Given the description of an element on the screen output the (x, y) to click on. 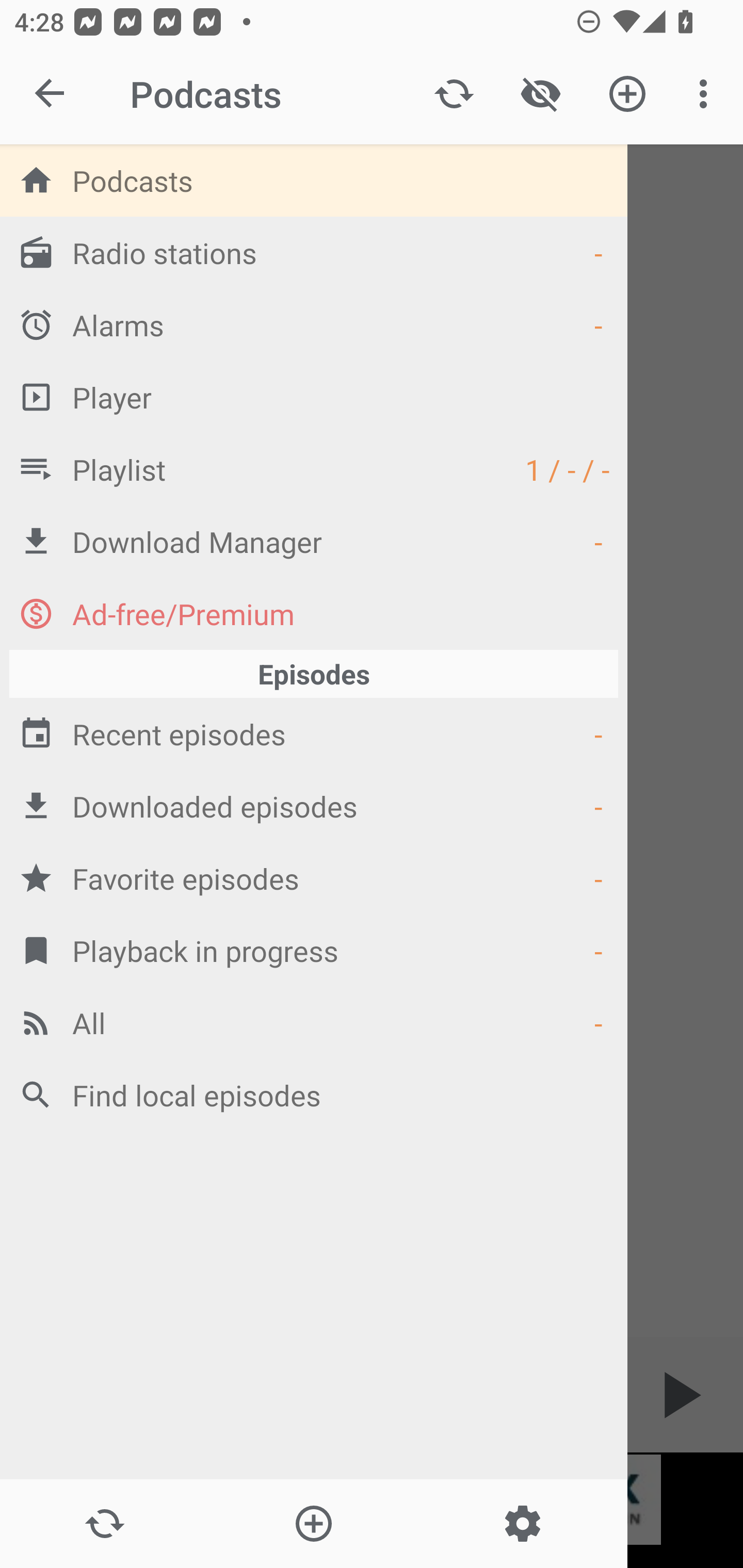
Close navigation sidebar (50, 93)
Update (453, 93)
Show / Hide played content (540, 93)
Add new Podcast (626, 93)
More options (706, 93)
Podcasts (313, 180)
Radio stations  -  (313, 252)
Alarms  -  (313, 324)
Player (313, 396)
Playlist 1 / - / - (313, 468)
Download Manager  -  (313, 540)
Ad-free/Premium (313, 613)
Recent episodes  -  (313, 733)
Downloaded episodes  -  (313, 805)
Favorite episodes  -  (313, 878)
Playback in progress  -  (313, 950)
All  -  (313, 1022)
Find local episodes (313, 1094)
Update (104, 1523)
Add new Podcast (312, 1523)
Settings (522, 1523)
